Given the description of an element on the screen output the (x, y) to click on. 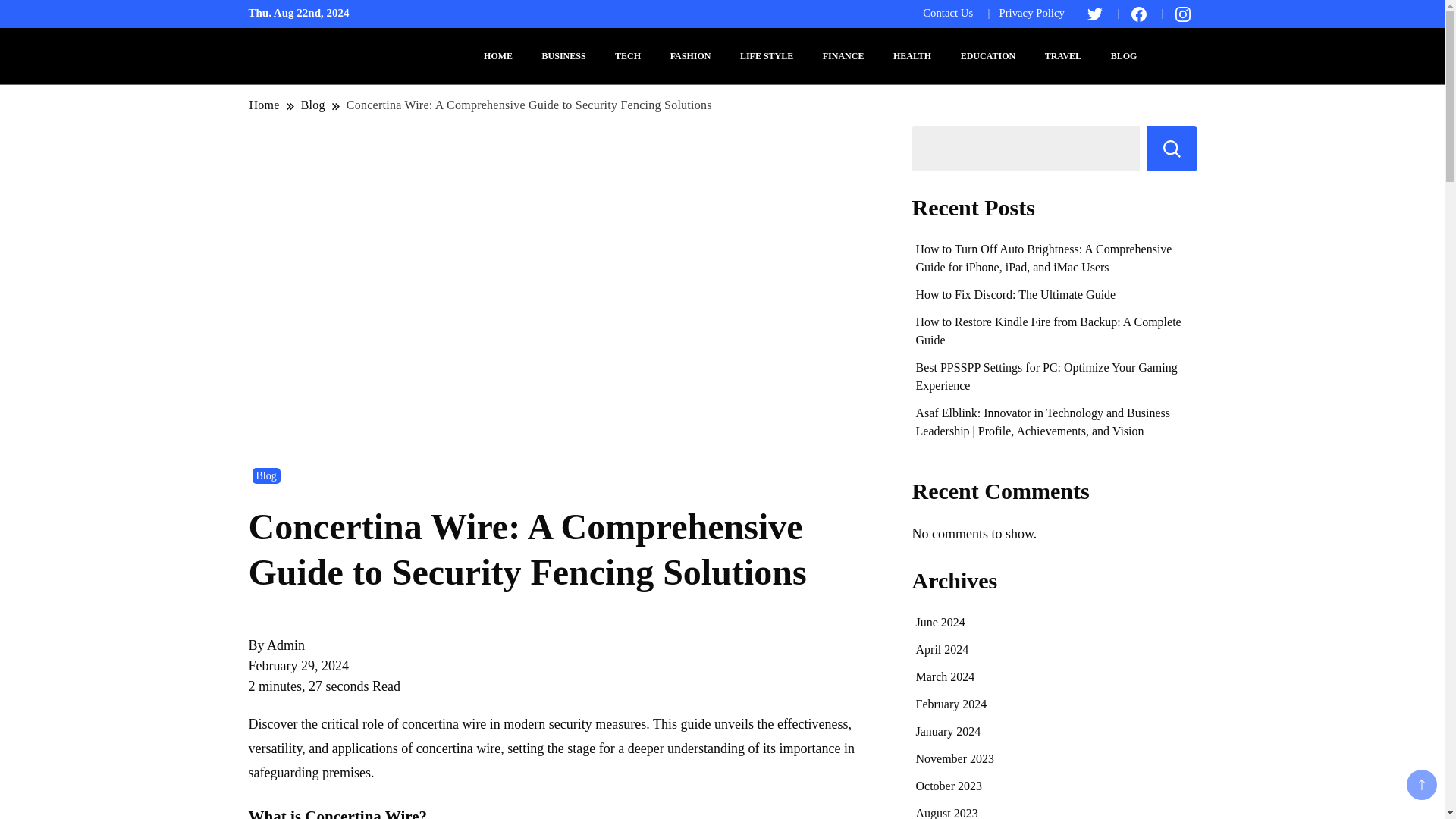
Home (264, 104)
Privacy Policy (1031, 12)
HOME (497, 55)
BLOG (1123, 55)
FINANCE (843, 55)
EDUCATION (987, 55)
FASHION (690, 55)
TRAVEL (1063, 55)
HEALTH (911, 55)
BUSINESS (563, 55)
